Given the description of an element on the screen output the (x, y) to click on. 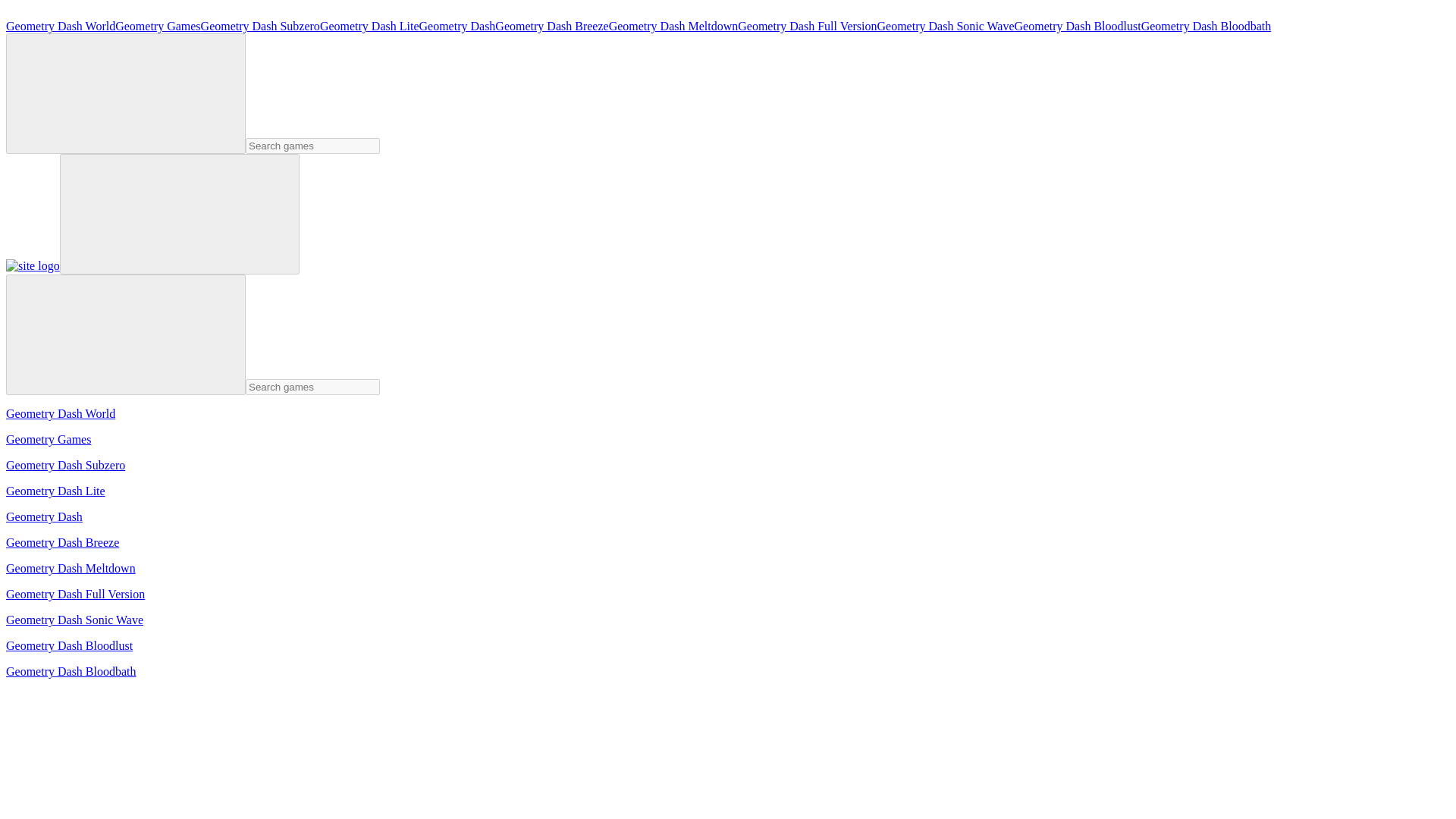
Geometry Dash Subzero (260, 25)
Geometry Dash (457, 25)
Geometry Dash Full Version (807, 25)
Geometry Dash Meltdown (673, 25)
Geometry Dash World (60, 25)
Geometry Games (157, 25)
Geometry Dash Breeze (551, 25)
Geometry Dash Bloodbath (1206, 25)
Geometry Dash Lite (369, 25)
Geometry Dash Bloodlust (1077, 25)
Geometry Dash Sonic Wave (945, 25)
